Given the description of an element on the screen output the (x, y) to click on. 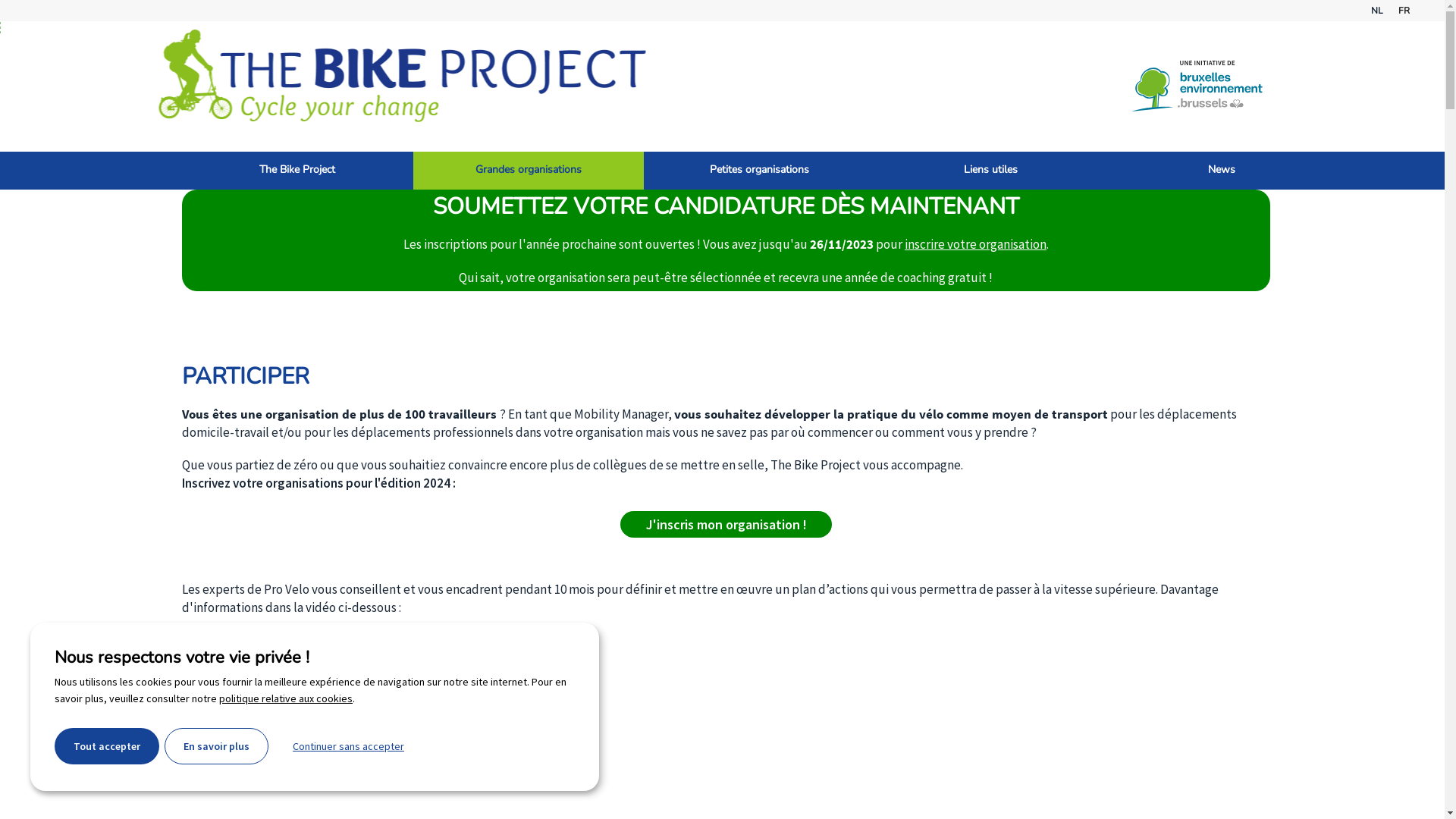
politique relative aux cookies Element type: text (285, 698)
Liens utiles Element type: text (990, 170)
FR Element type: text (1403, 10)
NL Element type: text (1377, 10)
J'inscris mon organisation ! Element type: text (726, 523)
Grandes organisations Element type: text (527, 170)
Continuer sans accepter Element type: text (348, 746)
inscrire votre organisation Element type: text (975, 243)
En savoir plus Element type: text (216, 746)
News Element type: text (1221, 170)
Petites organisations Element type: text (759, 170)
The Bike Project Element type: text (297, 170)
Aller au contenu Element type: text (52, 16)
Tout accepter Element type: text (106, 746)
